Given the description of an element on the screen output the (x, y) to click on. 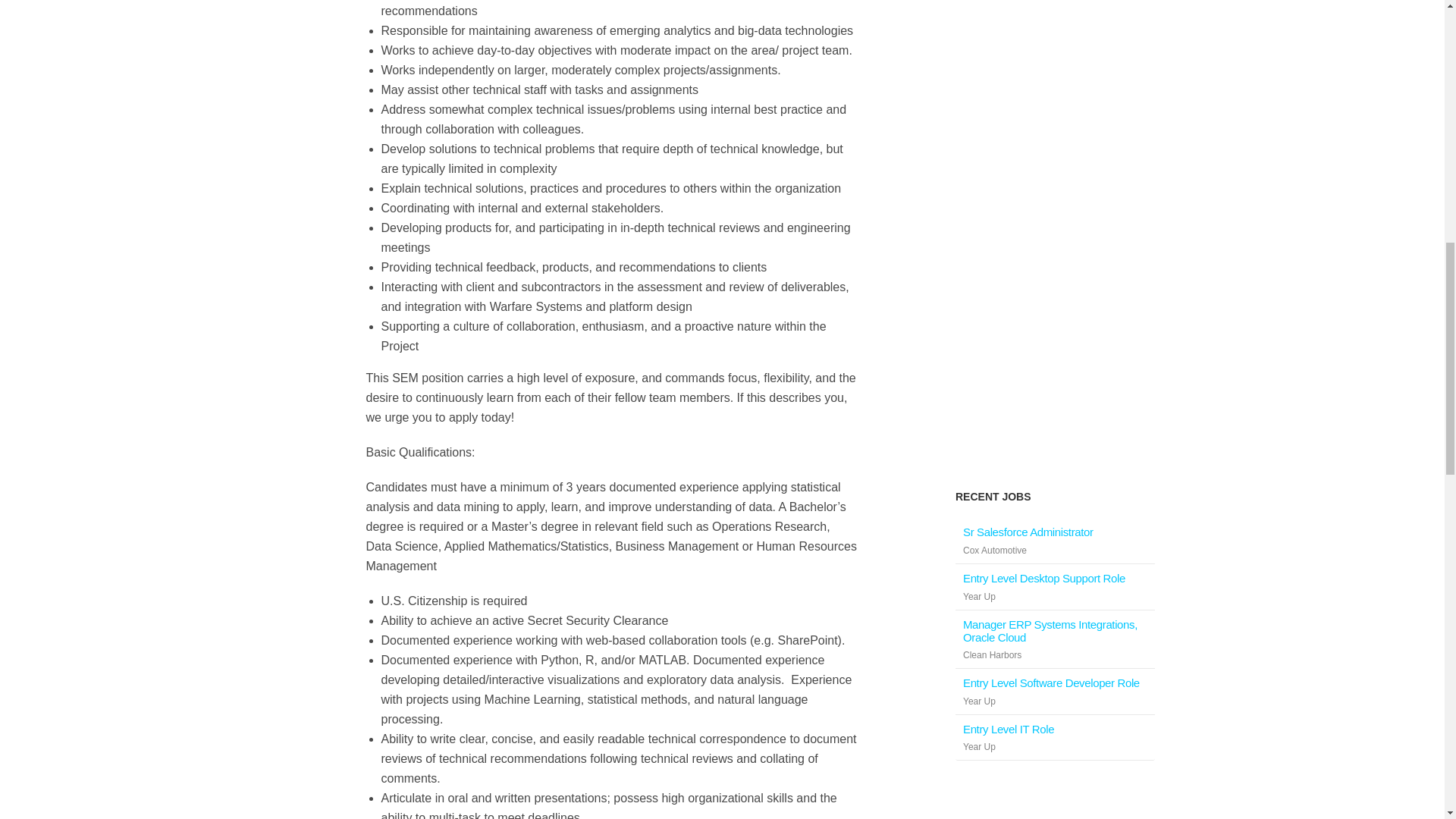
Entry Level Desktop Support Role (1043, 577)
Entry Level Software Developer Role (1051, 682)
Entry Level IT Role (1008, 728)
Manager ERP Systems Integrations, Oracle Cloud (1054, 630)
Sr Salesforce Administrator (1027, 531)
